Given the description of an element on the screen output the (x, y) to click on. 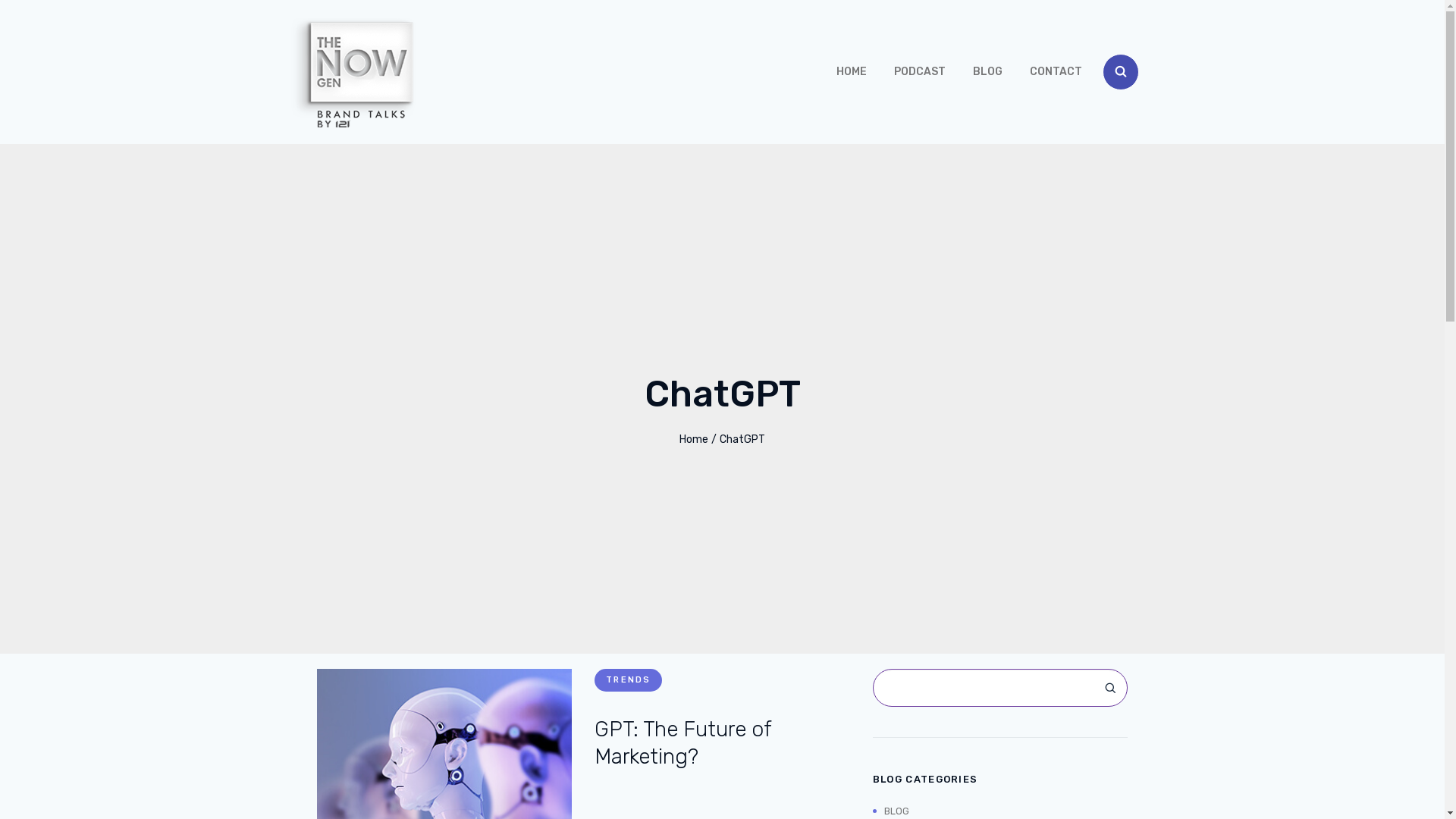
BLOG Element type: text (890, 810)
TRENDS Element type: text (628, 679)
CONTACT Element type: text (1055, 71)
ChatGPT Element type: text (742, 439)
HOME Element type: text (851, 71)
BLOG Element type: text (987, 71)
Home Element type: text (693, 439)
GPT: The Future of Marketing? Element type: text (682, 742)
PODCAST Element type: text (919, 71)
